Given the description of an element on the screen output the (x, y) to click on. 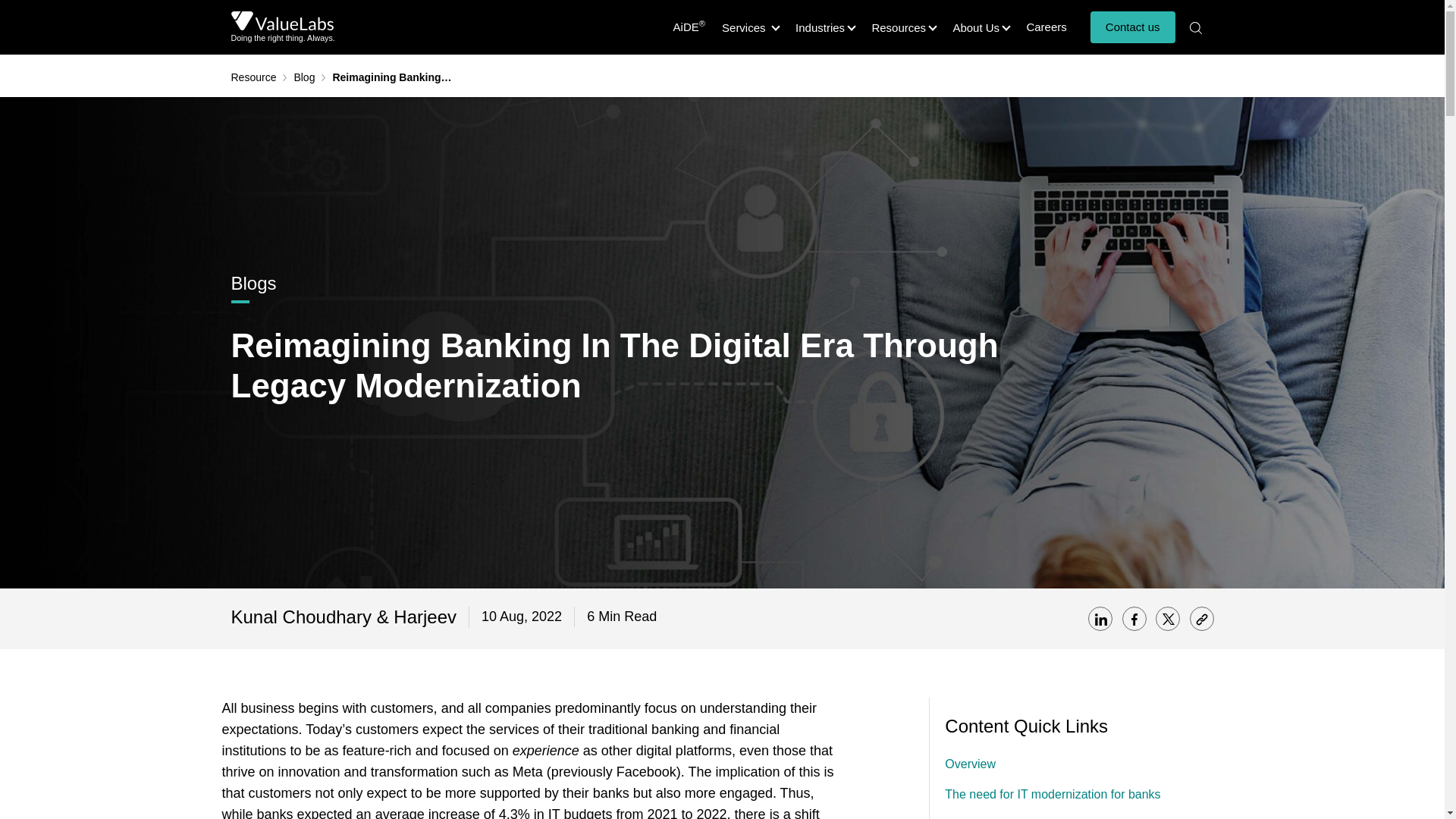
Industries (824, 27)
Doing the right thing. Always. (282, 26)
Resources (903, 27)
Services (750, 27)
